Given the description of an element on the screen output the (x, y) to click on. 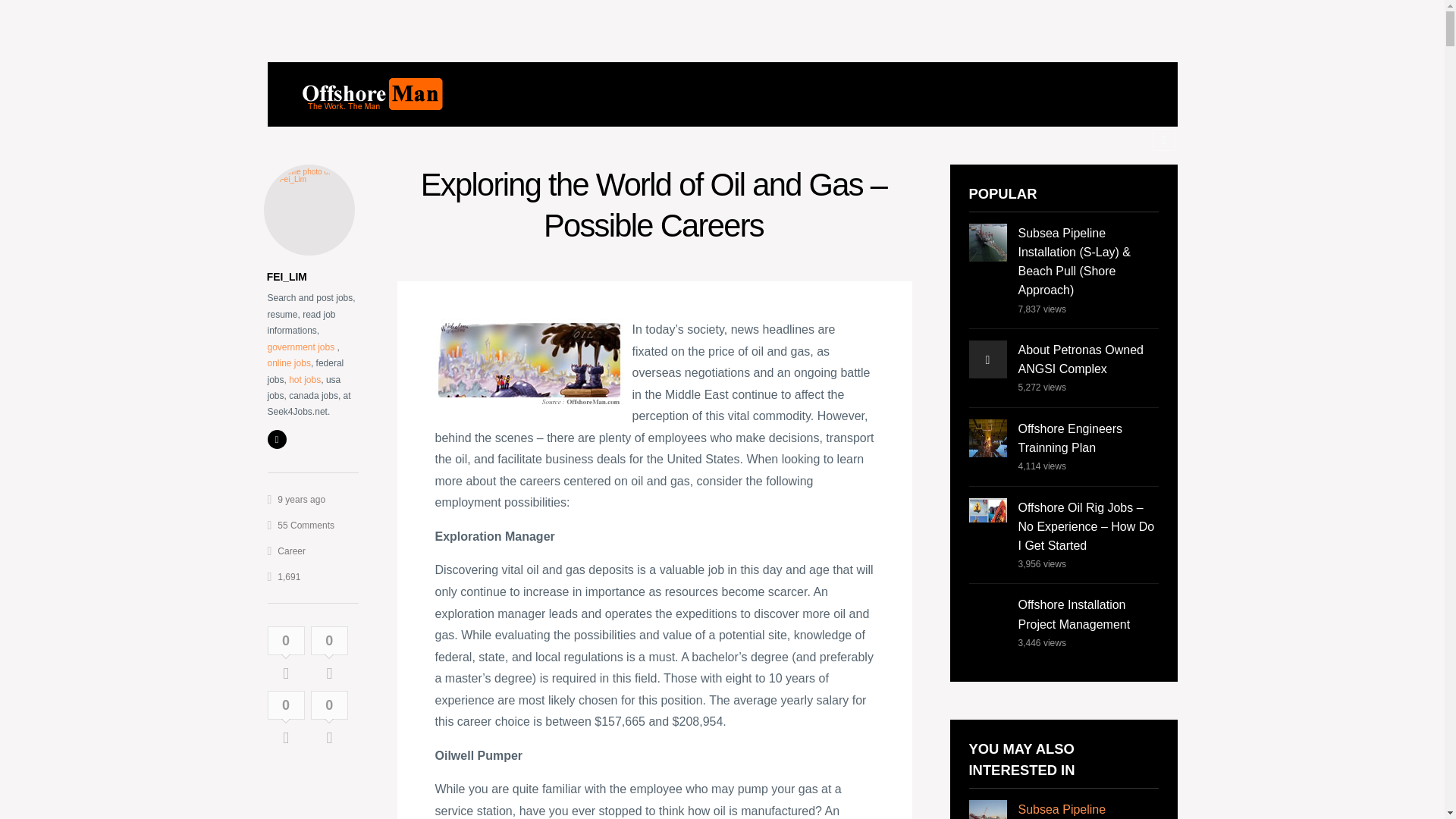
Working In Iraq: Is It For You? (533, 364)
